Given the description of an element on the screen output the (x, y) to click on. 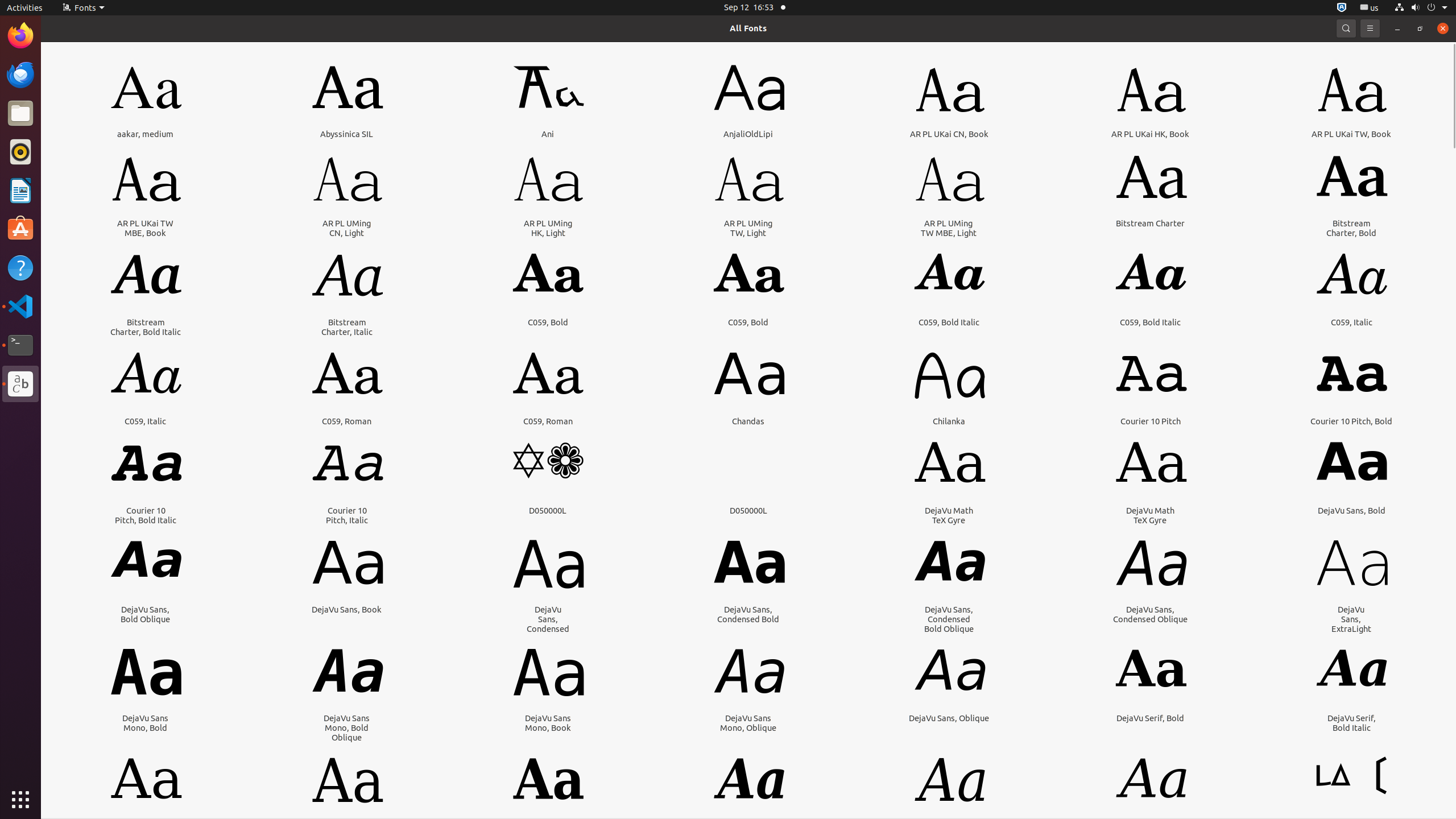
AR PL UMing CN, Light Element type: label (346, 227)
DejaVu Sans, Oblique Element type: label (948, 717)
AnjaliOldLipi Element type: label (747, 133)
Minimize Element type: push-button (1397, 27)
DejaVu Sans Mono, Oblique Element type: label (748, 722)
